Given the description of an element on the screen output the (x, y) to click on. 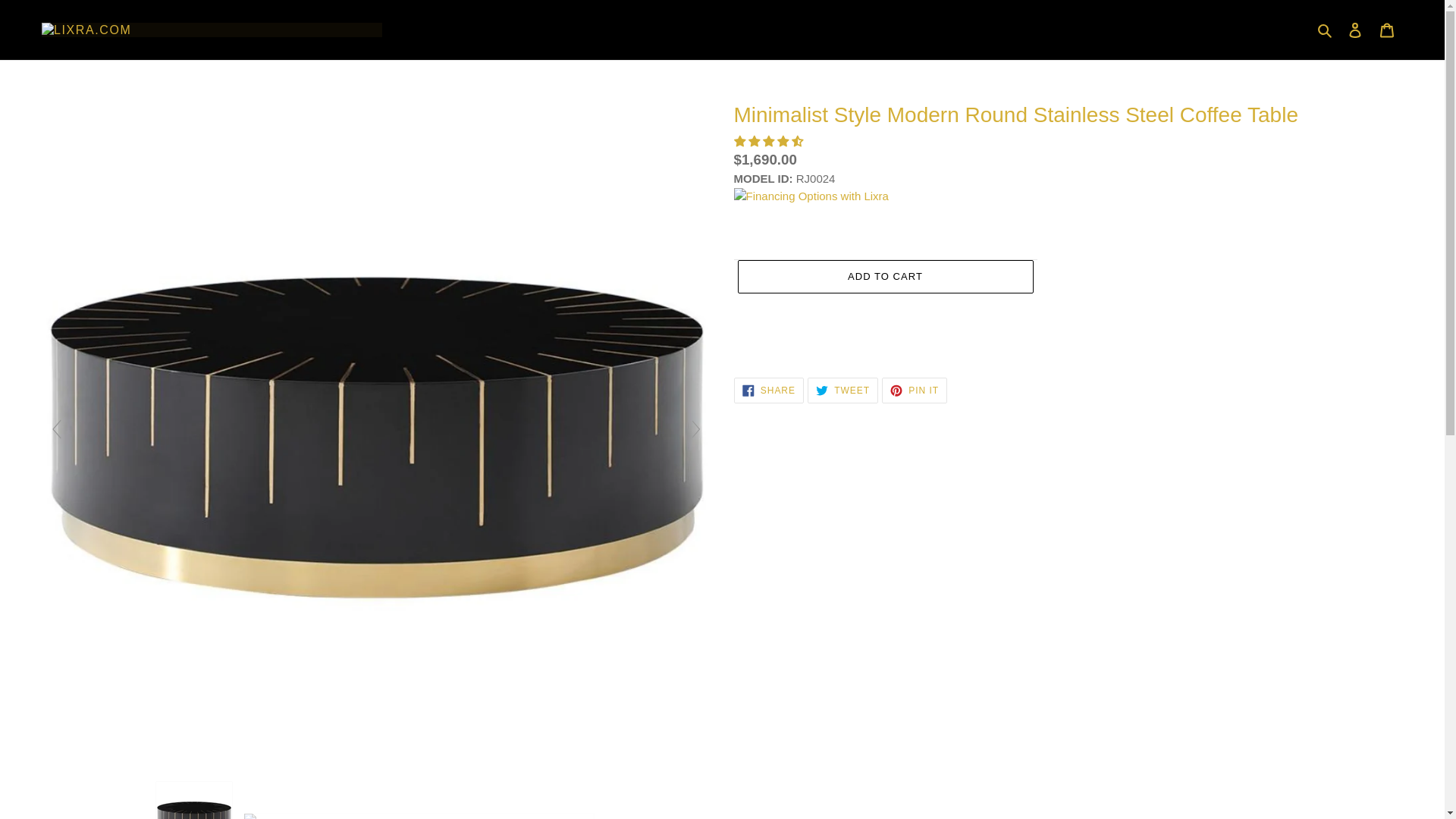
Log in (1355, 29)
Cart (842, 390)
Search (1387, 29)
ADD TO CART (768, 390)
